Given the description of an element on the screen output the (x, y) to click on. 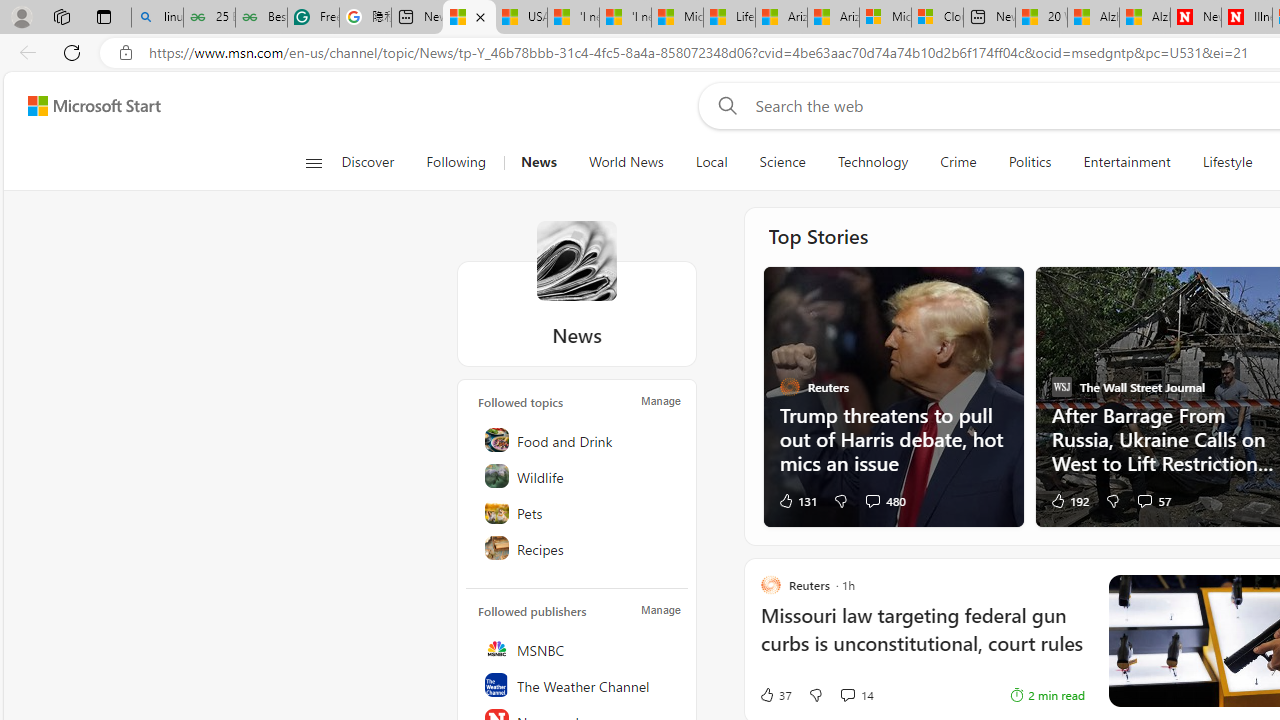
Lifestyle - MSN (729, 17)
25 Basic Linux Commands For Beginners - GeeksforGeeks (209, 17)
The Weather Channel (578, 684)
Best SSL Certificates Provider in India - GeeksforGeeks (260, 17)
Recipes (578, 547)
